Given the description of an element on the screen output the (x, y) to click on. 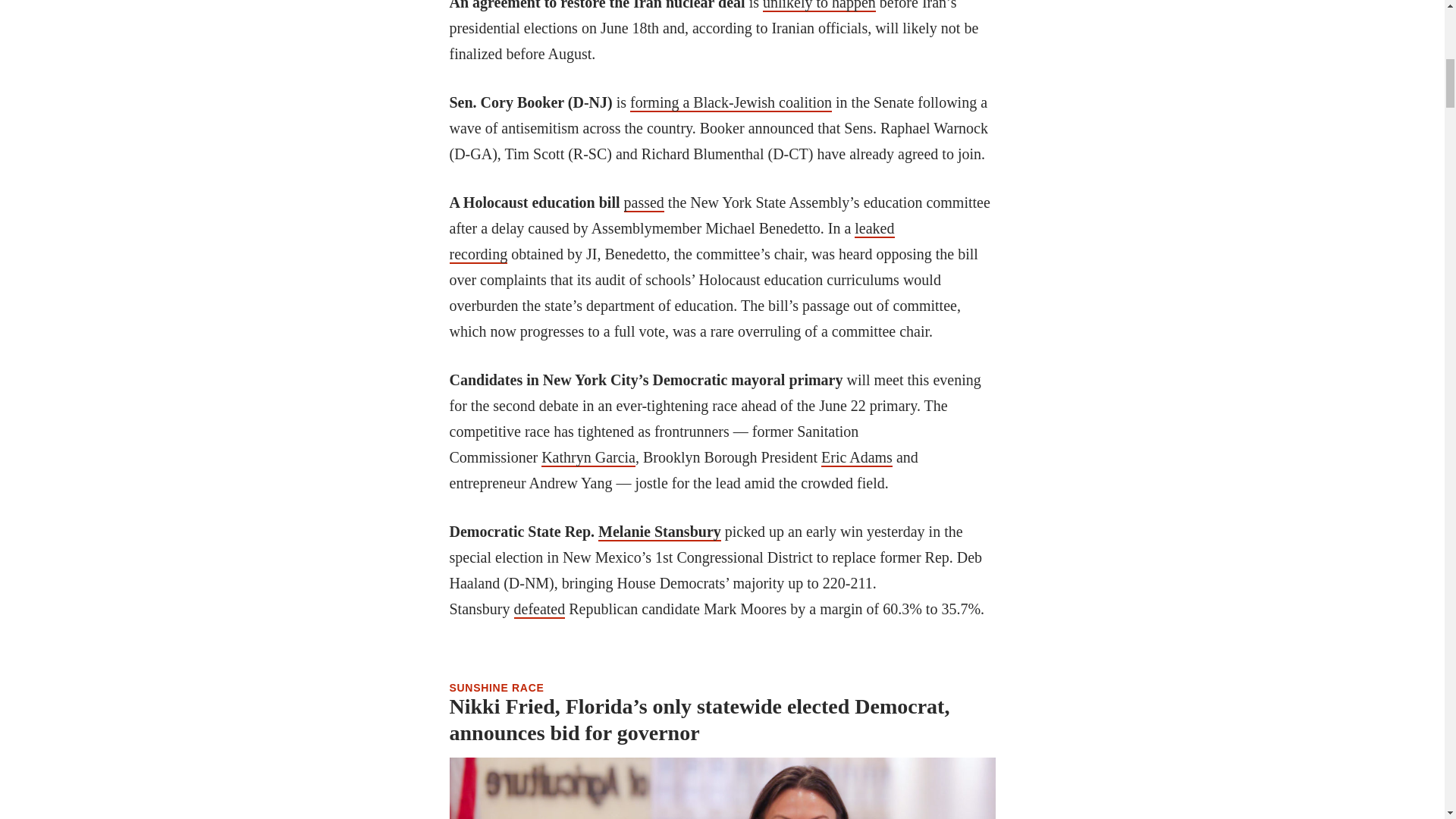
Melanie Stansbury (659, 532)
defeated (539, 609)
passed (643, 203)
Kathryn Garcia (587, 457)
forming a Black-Jewish coalition (730, 103)
leaked recording (670, 241)
unlikely to happen (819, 6)
Eric Adams (856, 457)
